Given the description of an element on the screen output the (x, y) to click on. 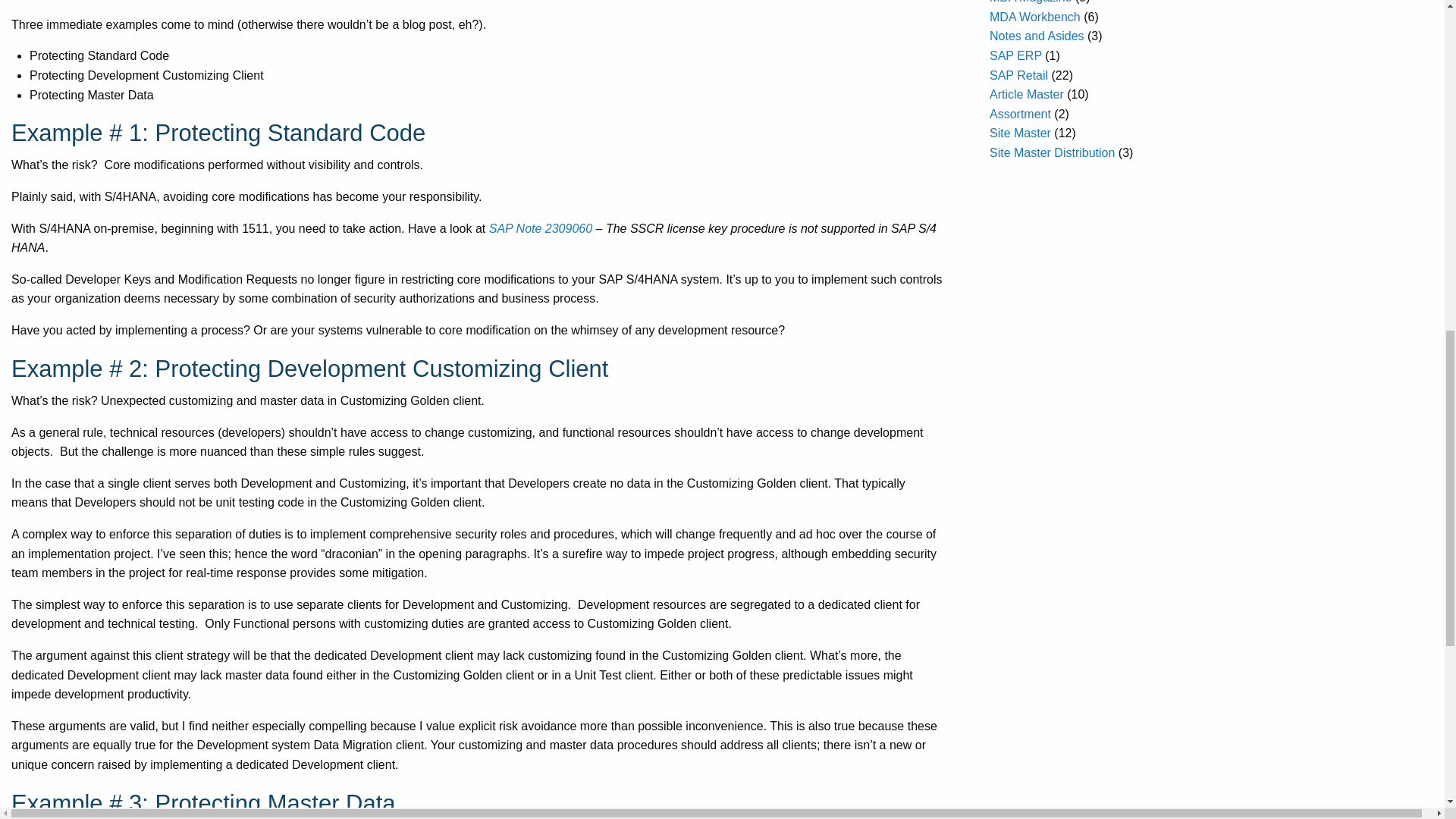
SAP ERP (1016, 55)
MDA Workbench (1035, 16)
Article Master (1027, 93)
SAP Retail (1019, 74)
Site Master (1020, 132)
SAP Note 2309060 (540, 228)
Notes and Asides (1037, 35)
Assortment (1020, 113)
Site Master Distribution (1052, 152)
MDA Magazine (1030, 2)
